Given the description of an element on the screen output the (x, y) to click on. 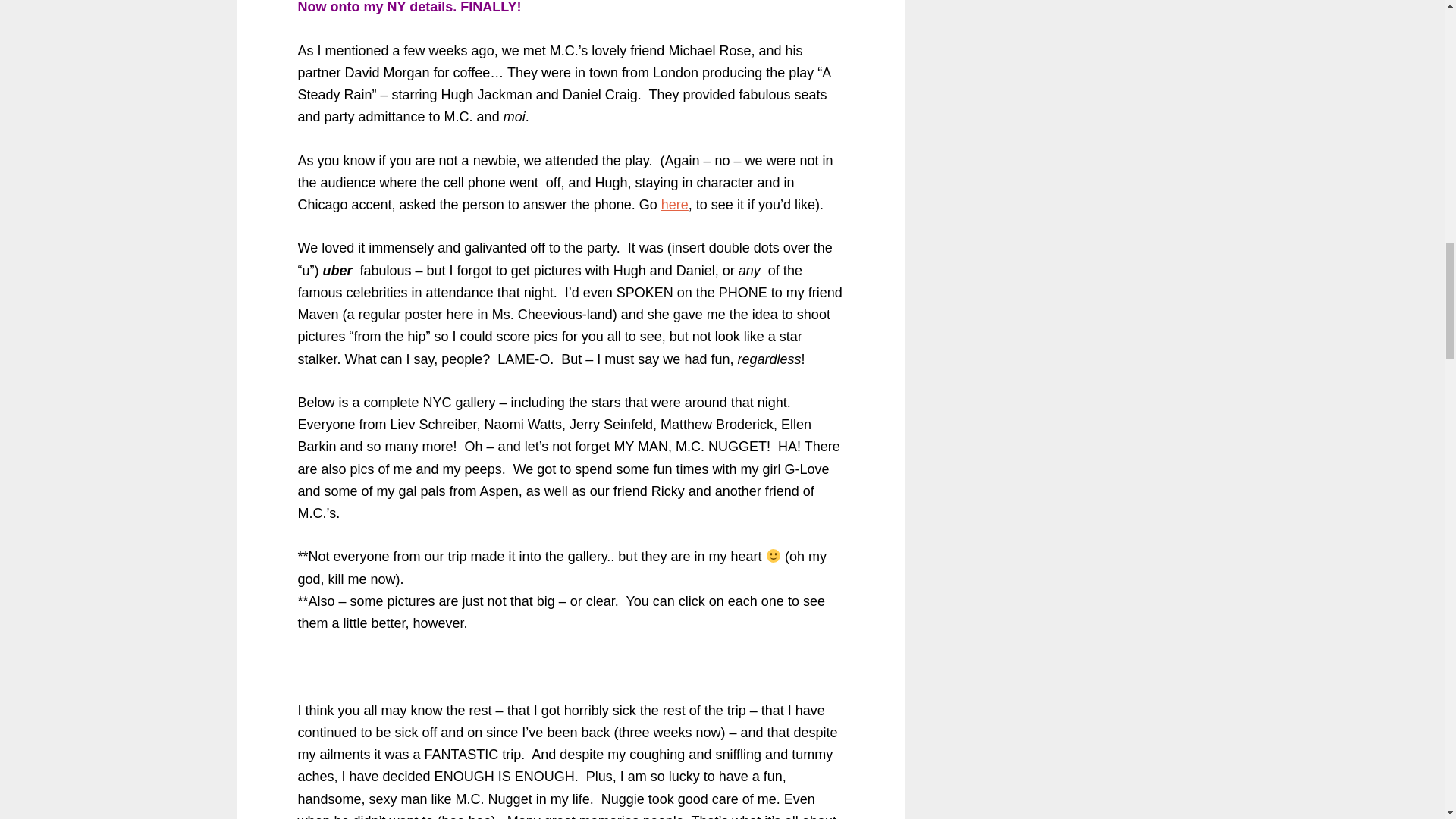
Hugh Jackman Cell Phone Incident (674, 204)
here (674, 204)
